Given the description of an element on the screen output the (x, y) to click on. 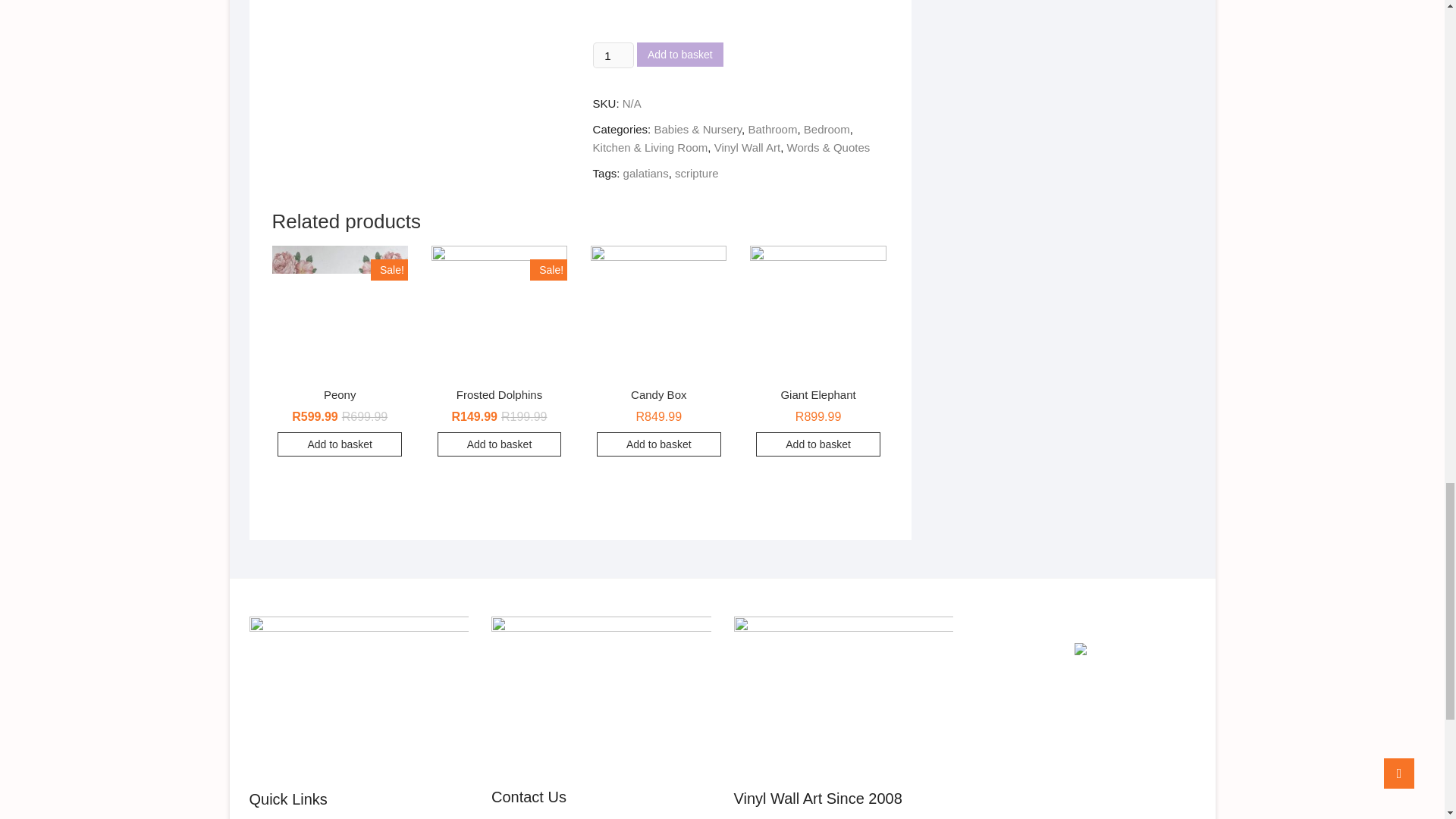
Bathroom (772, 128)
Vinyl Wall Art (747, 146)
Bedroom (826, 128)
1 (612, 54)
Add to basket (680, 54)
